Given the description of an element on the screen output the (x, y) to click on. 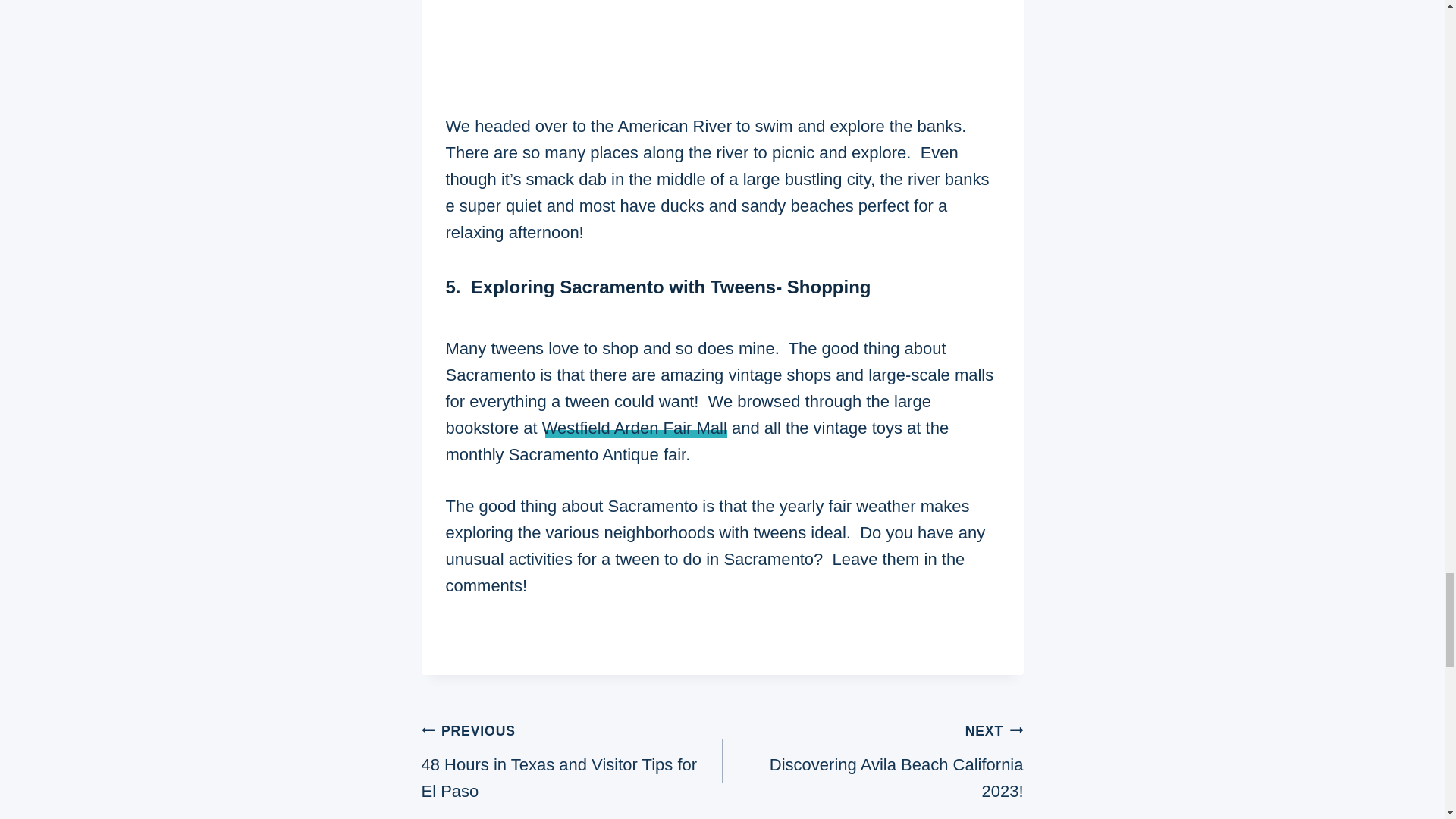
Westfield Arden Fair Mall (633, 427)
